Given the description of an element on the screen output the (x, y) to click on. 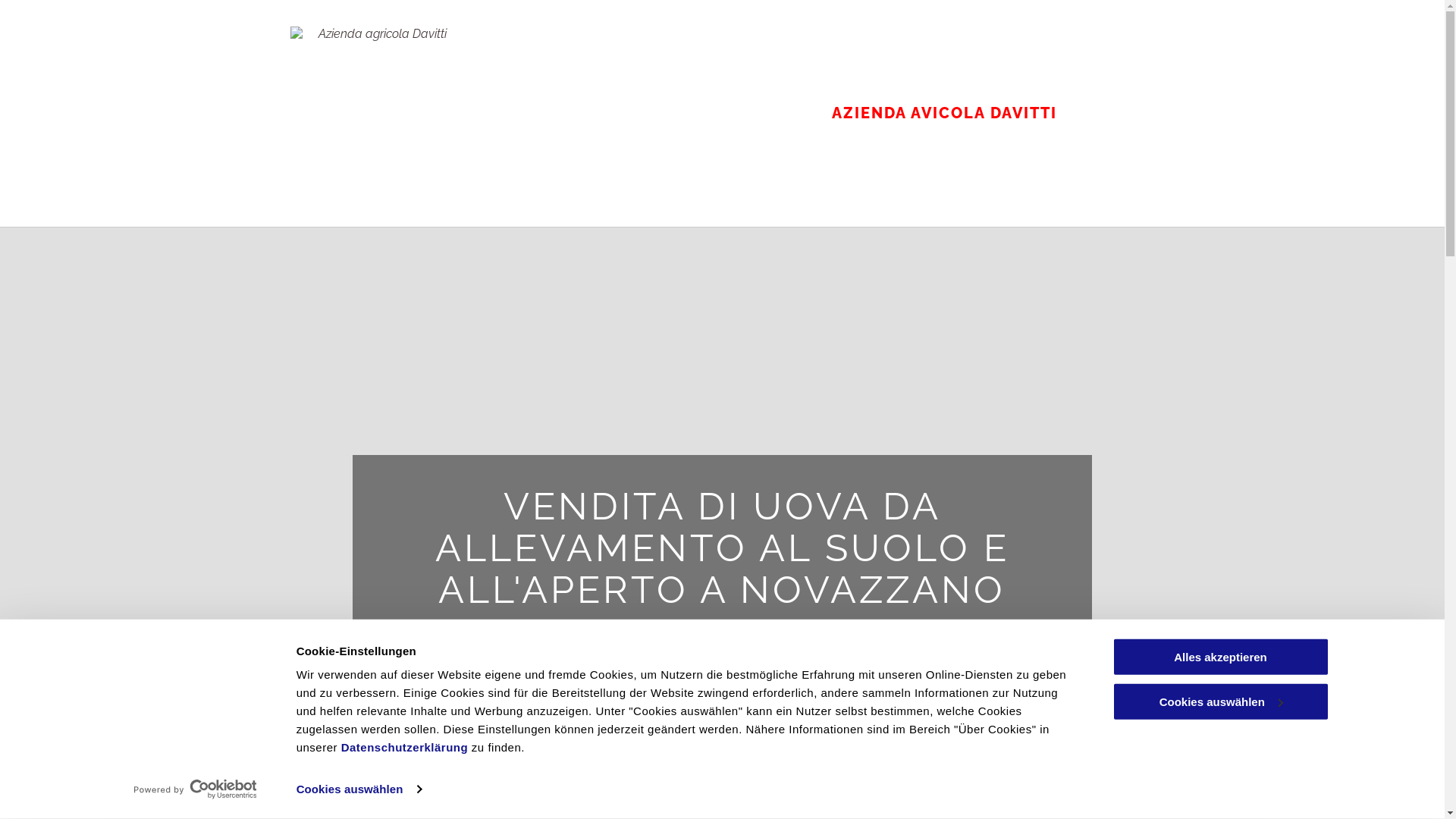
079 423 83 71 Element type: text (722, 773)
AZIENDA AVICOLA DAVITTI Element type: text (943, 112)
Alles akzeptieren Element type: text (1219, 656)
